Given the description of an element on the screen output the (x, y) to click on. 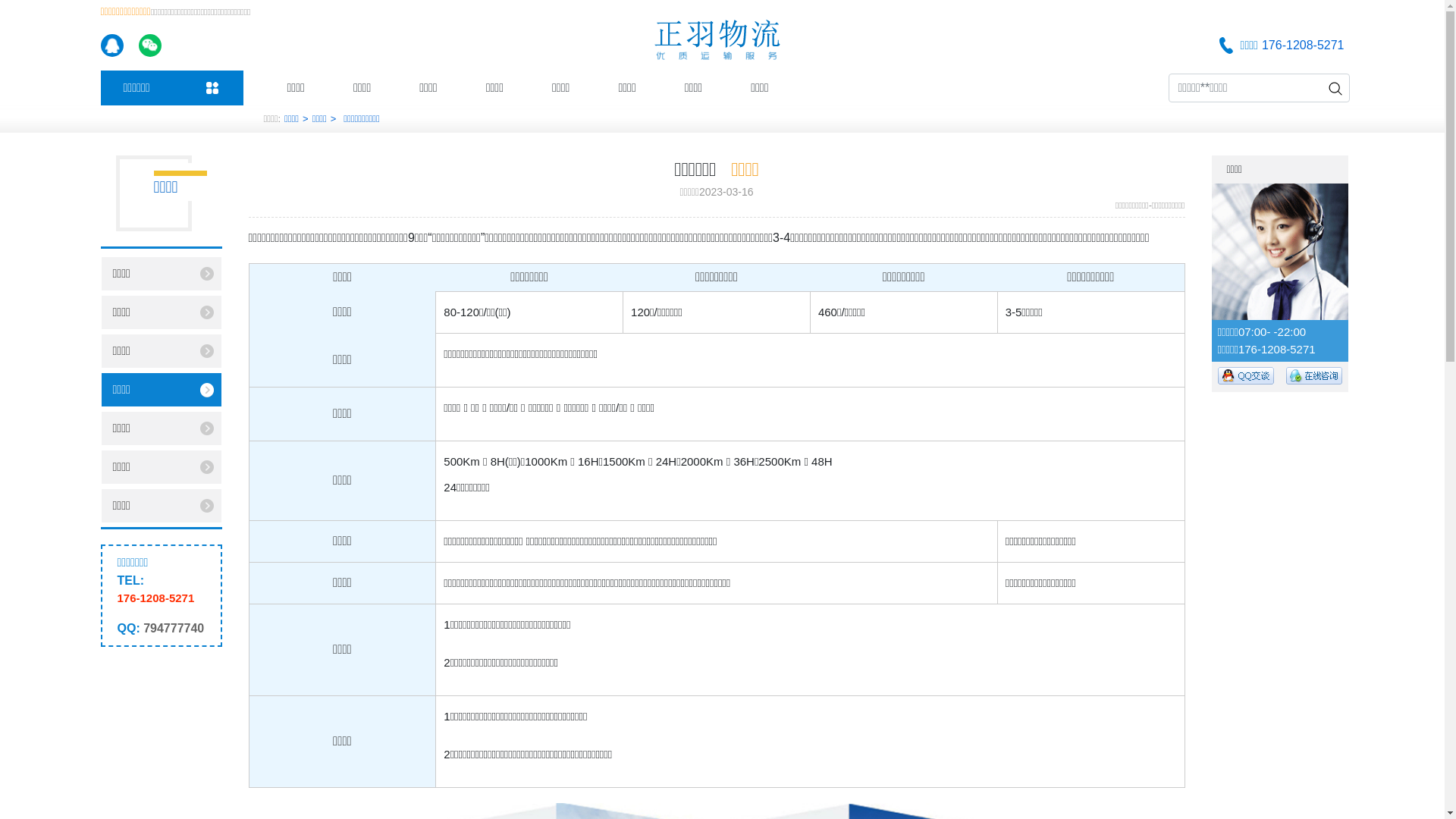
QQ Element type: hover (1314, 374)
QQ Element type: hover (1245, 374)
